Given the description of an element on the screen output the (x, y) to click on. 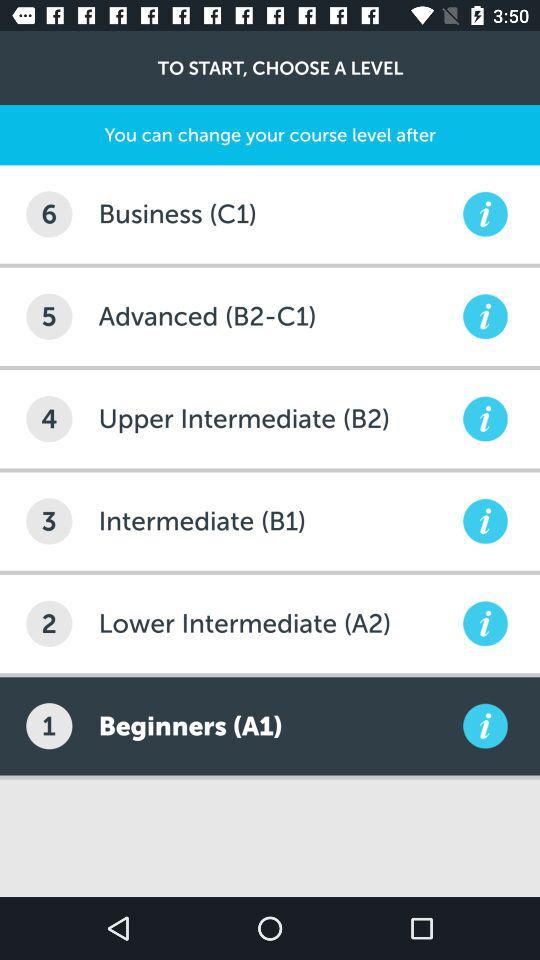
select item above 1 (49, 623)
